Given the description of an element on the screen output the (x, y) to click on. 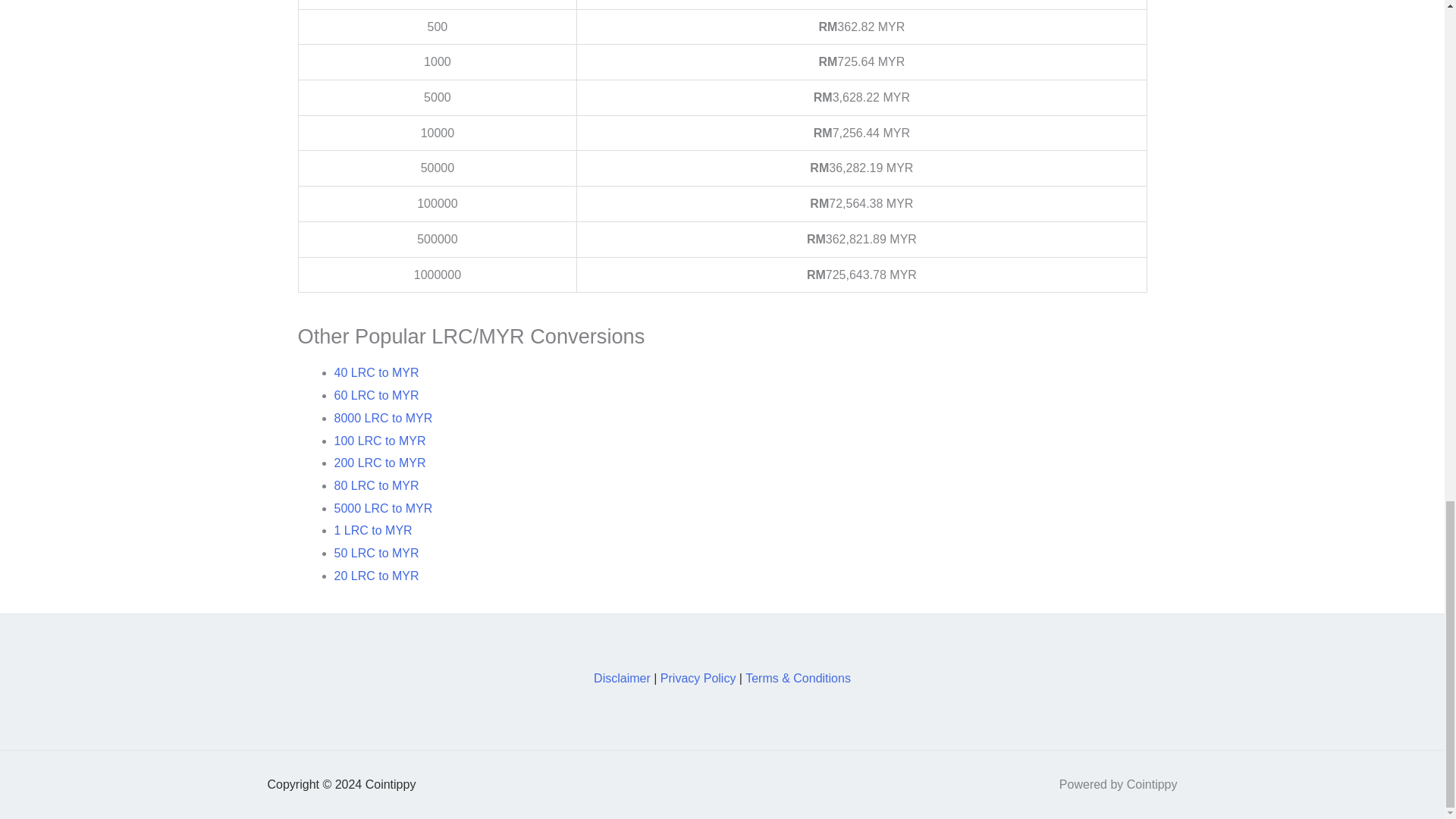
200 LRC to MYR (379, 462)
20 LRC to MYR (376, 575)
Privacy Policy (698, 677)
5000 LRC to MYR (382, 508)
60 LRC to MYR (376, 395)
8000 LRC to MYR (382, 418)
50 LRC to MYR (376, 553)
80 LRC to MYR (376, 485)
200 LRC to MYR (379, 462)
60 LRC to MYR (376, 395)
8000 LRC to MYR (382, 418)
40 LRC to MYR (376, 372)
1 LRC to MYR (372, 530)
40 LRC to MYR (376, 372)
20 LRC to MYR (376, 575)
